Given the description of an element on the screen output the (x, y) to click on. 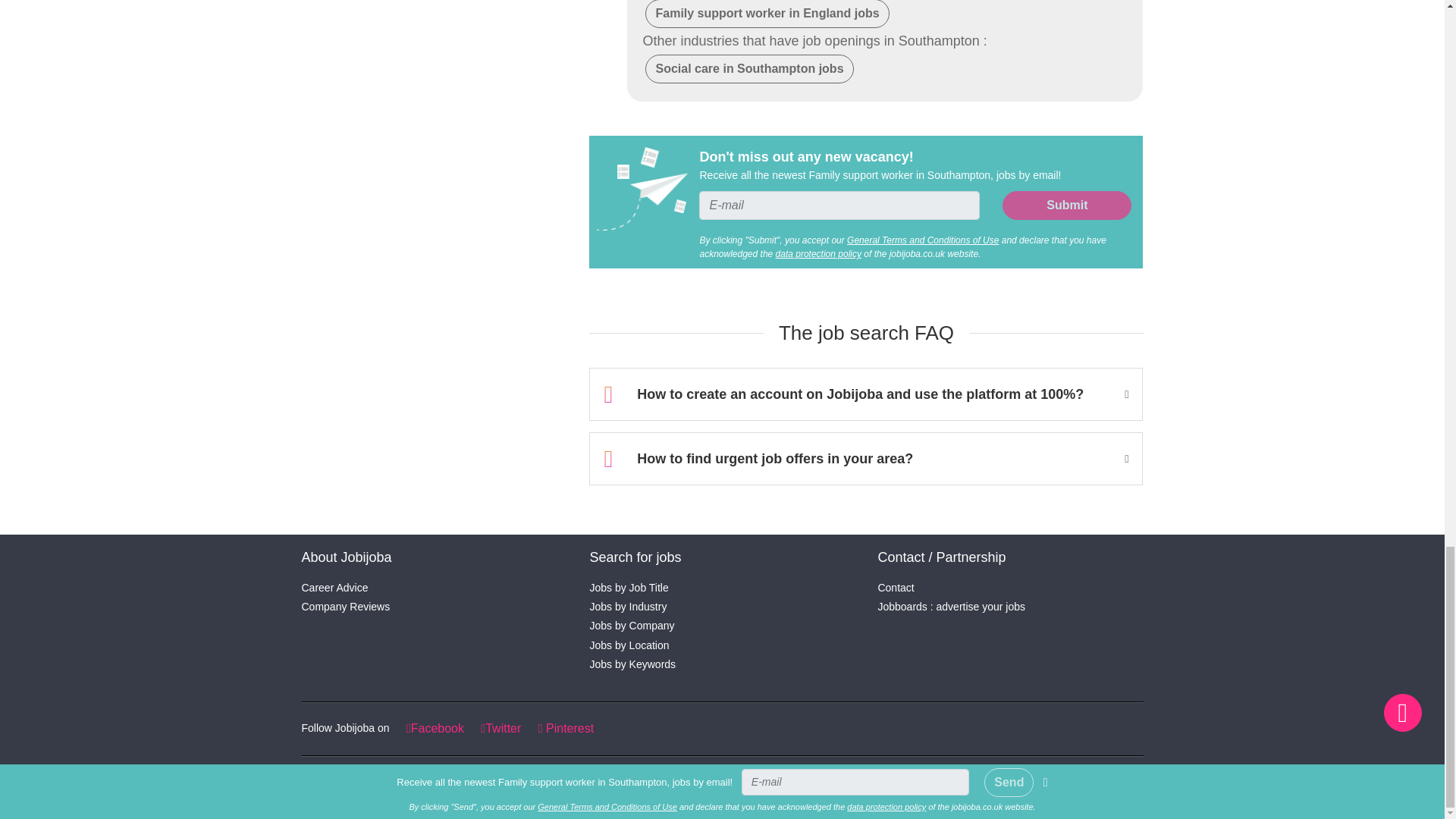
Submit (1067, 205)
Family support worker in England jobs (766, 13)
Social care in Southampton jobs (749, 68)
